Given the description of an element on the screen output the (x, y) to click on. 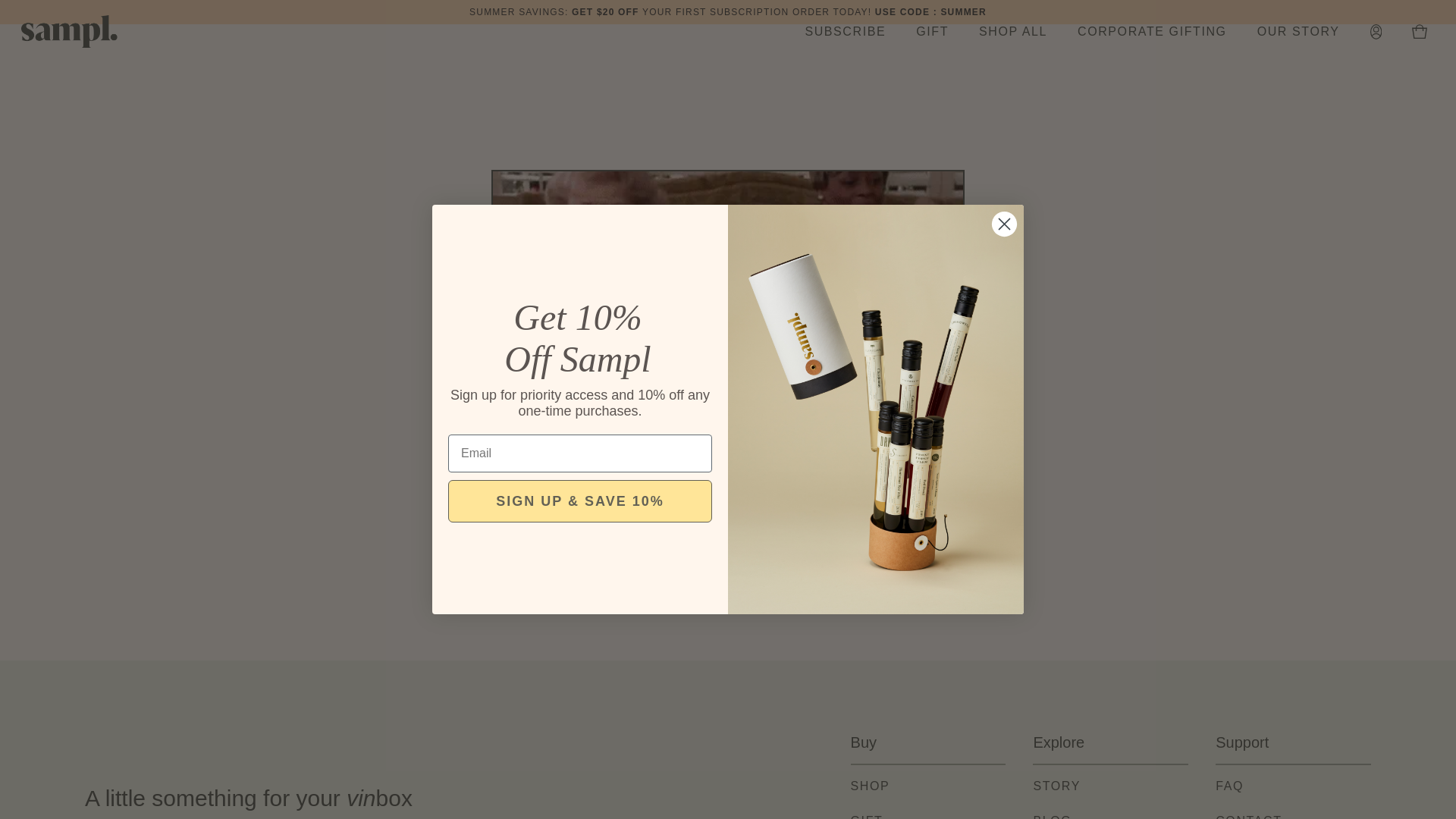
OUR STORY (1298, 31)
CONTACT (1248, 815)
SHOP (869, 786)
NO (791, 430)
FAQ (1229, 786)
STORY (1056, 786)
Toggle cart sidebar (1419, 31)
Explore (1110, 742)
Support (1293, 742)
SHOP ALL (1012, 31)
GIFT (932, 31)
GIFT (866, 815)
CORPORATE GIFTING (1152, 31)
BLOG (1051, 815)
PREVIOUS PAGE (727, 554)
